Given the description of an element on the screen output the (x, y) to click on. 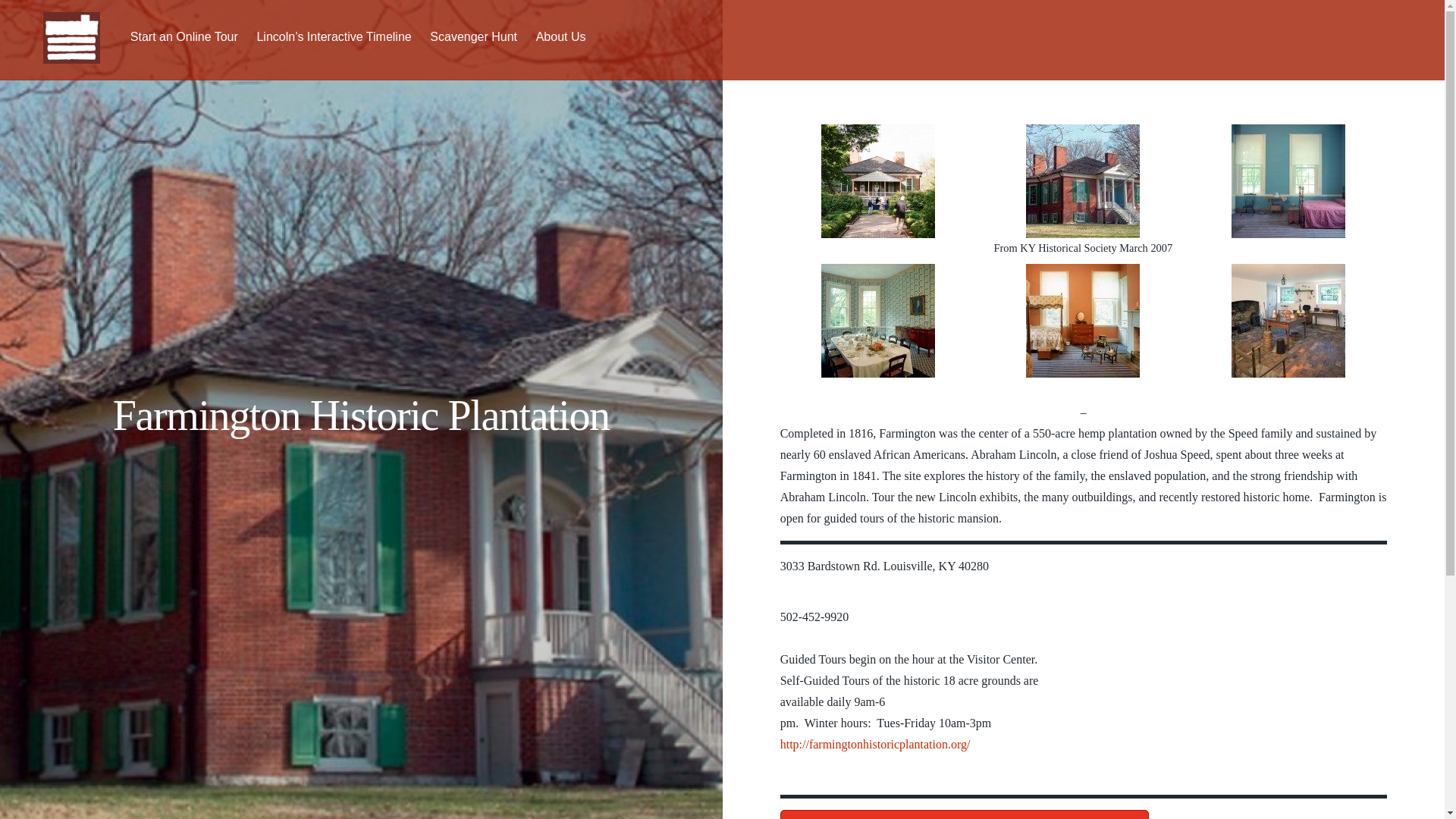
About Us (561, 39)
Scavenger Hunt (473, 39)
Click here to visit the next site on the KY Heritage Trail! (964, 814)
Start an Online Tour (184, 39)
Kentucky Lincoln Heritage Trail (71, 37)
Kentucky Lincoln Heritage Trail (71, 53)
